Given the description of an element on the screen output the (x, y) to click on. 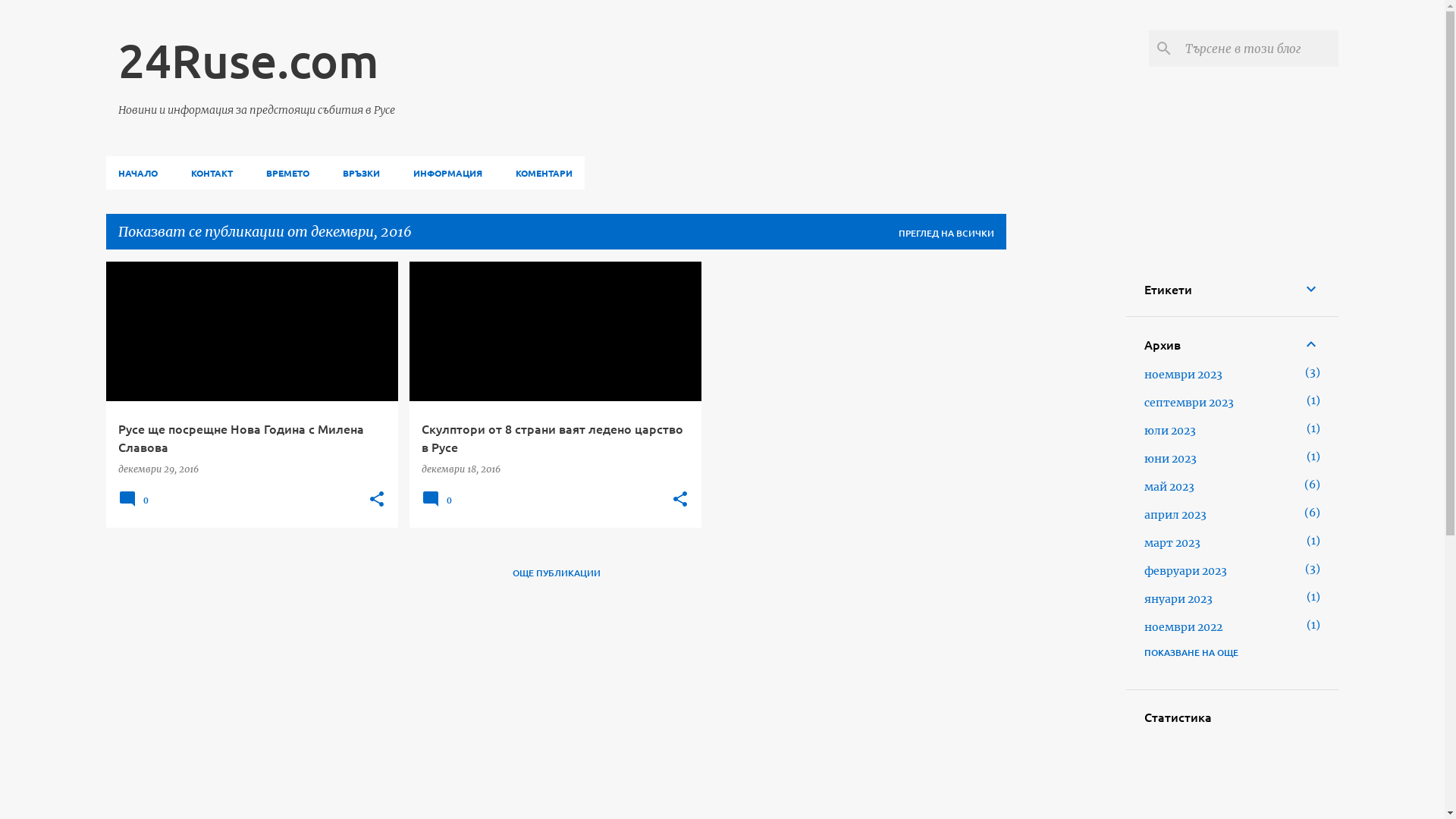
0 Element type: text (135, 504)
24Ruse.com Element type: text (248, 59)
Advertisement Element type: hover (1065, 488)
0 Element type: text (438, 504)
